Given the description of an element on the screen output the (x, y) to click on. 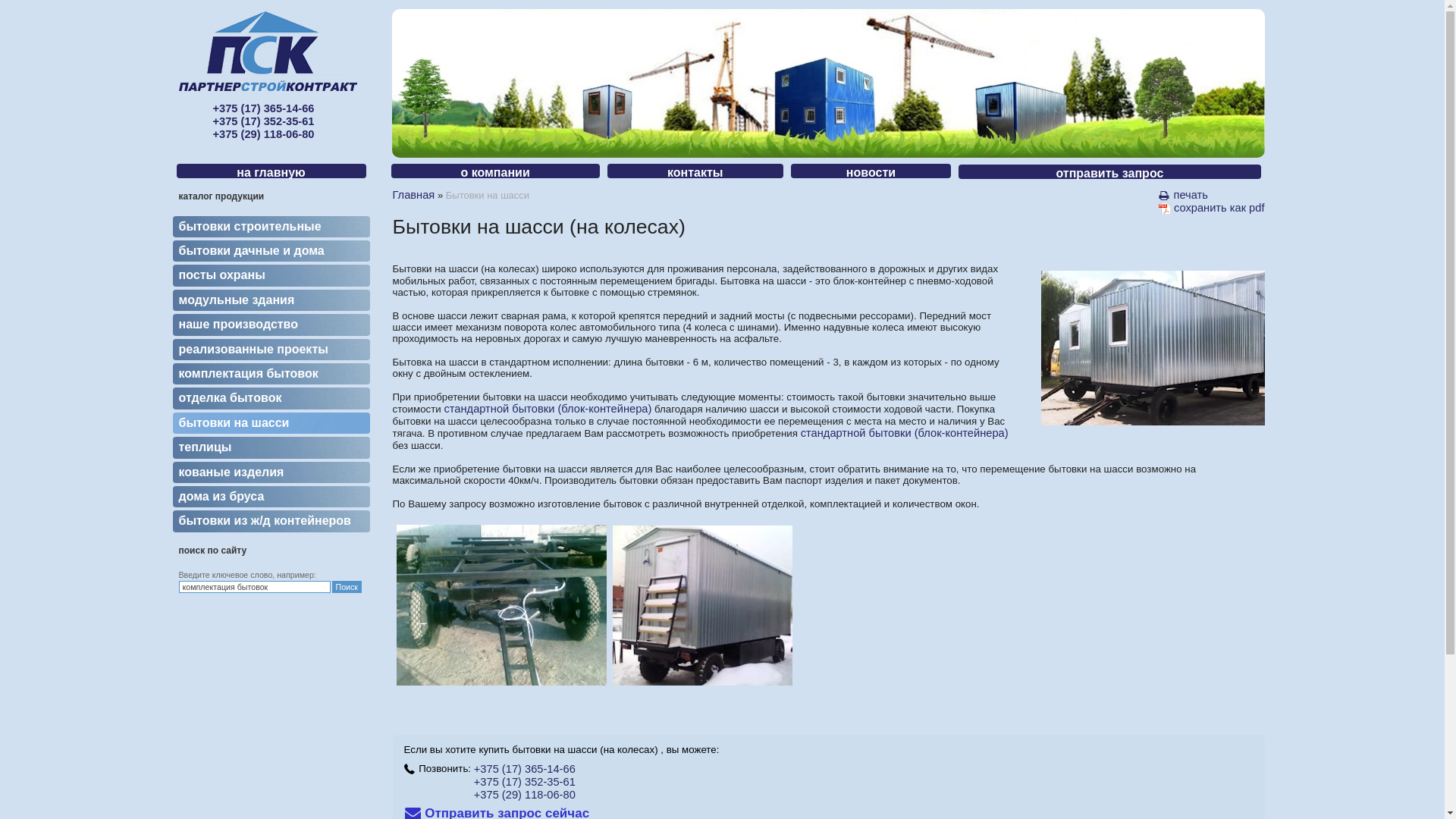
+375 (29) 118-06-80 Element type: text (524, 794)
+375 (17) 365-14-66
+375 (17) 352-35-61
+375 (29) 118-06-80 Element type: text (262, 121)
+375 (17) 365-14-66 Element type: text (524, 768)
+375 (17) 352-35-61 Element type: text (524, 781)
